Given the description of an element on the screen output the (x, y) to click on. 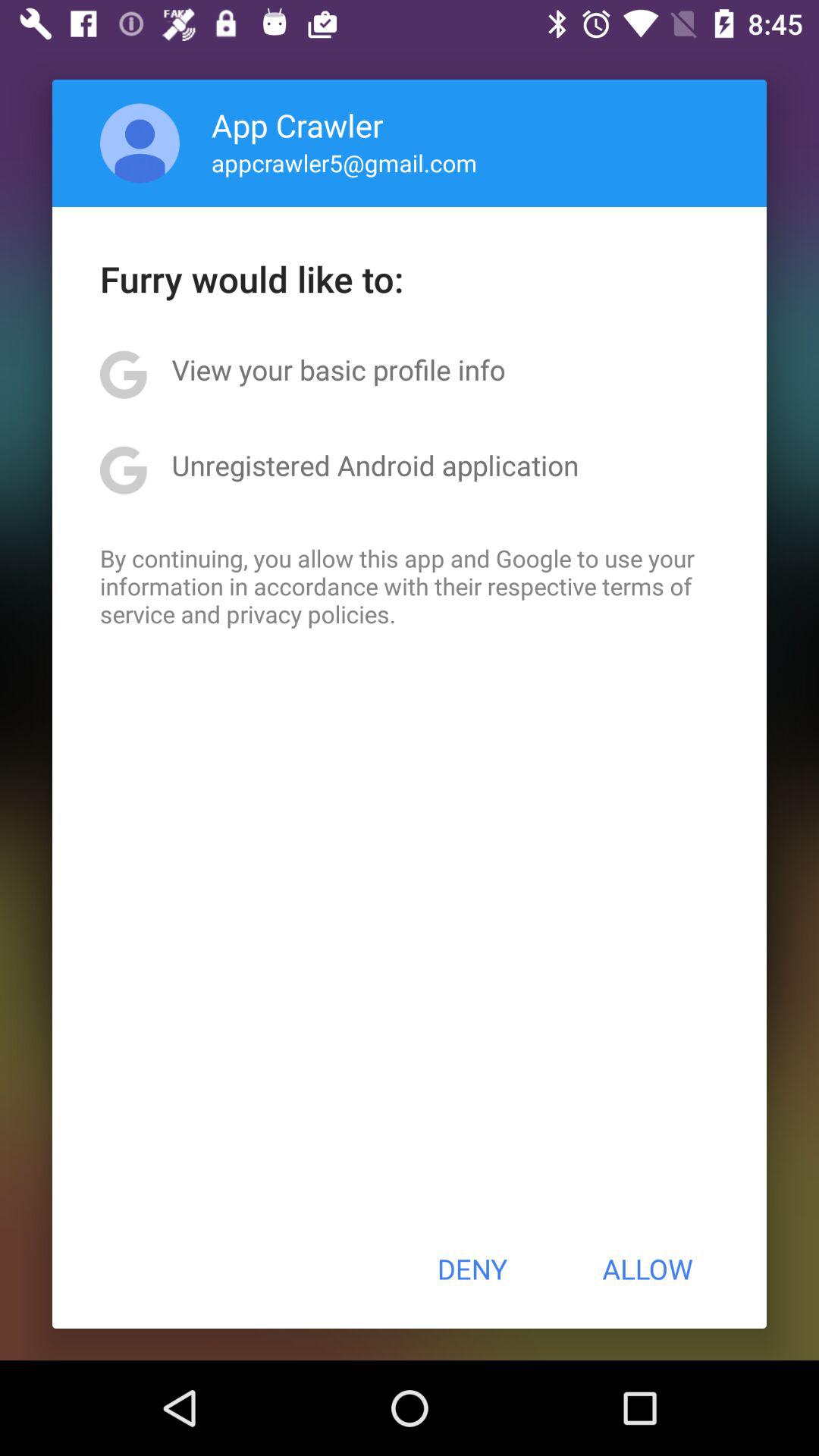
swipe to the deny item (471, 1268)
